Given the description of an element on the screen output the (x, y) to click on. 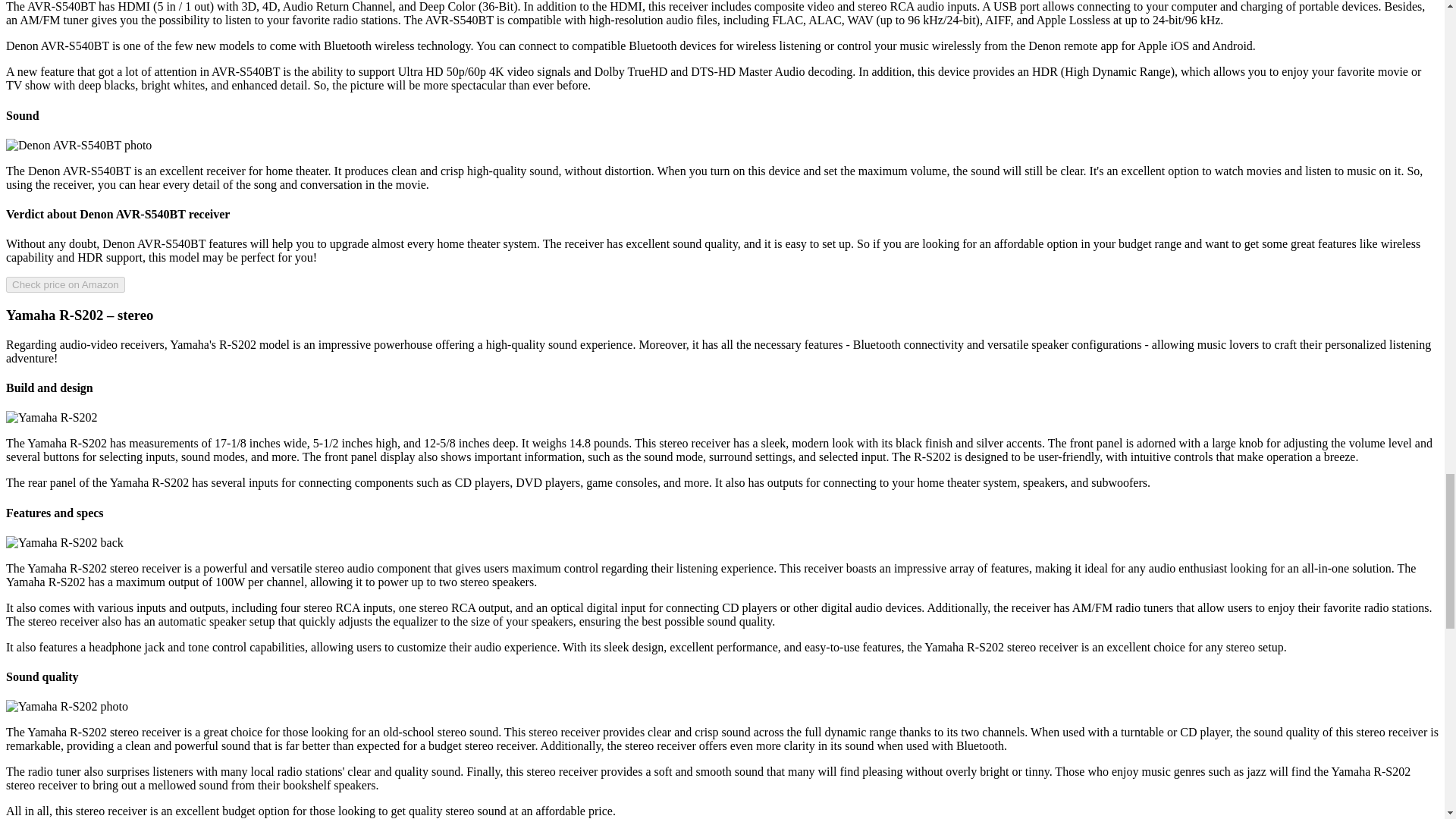
Denon AVR-S540BT photo (78, 145)
Check price on Amazon (65, 284)
Yamaha R-S202 photo (66, 706)
Yamaha R-S202 back (64, 542)
Yamaha R-S202 (51, 418)
Check price on Amazon (65, 283)
